Given the description of an element on the screen output the (x, y) to click on. 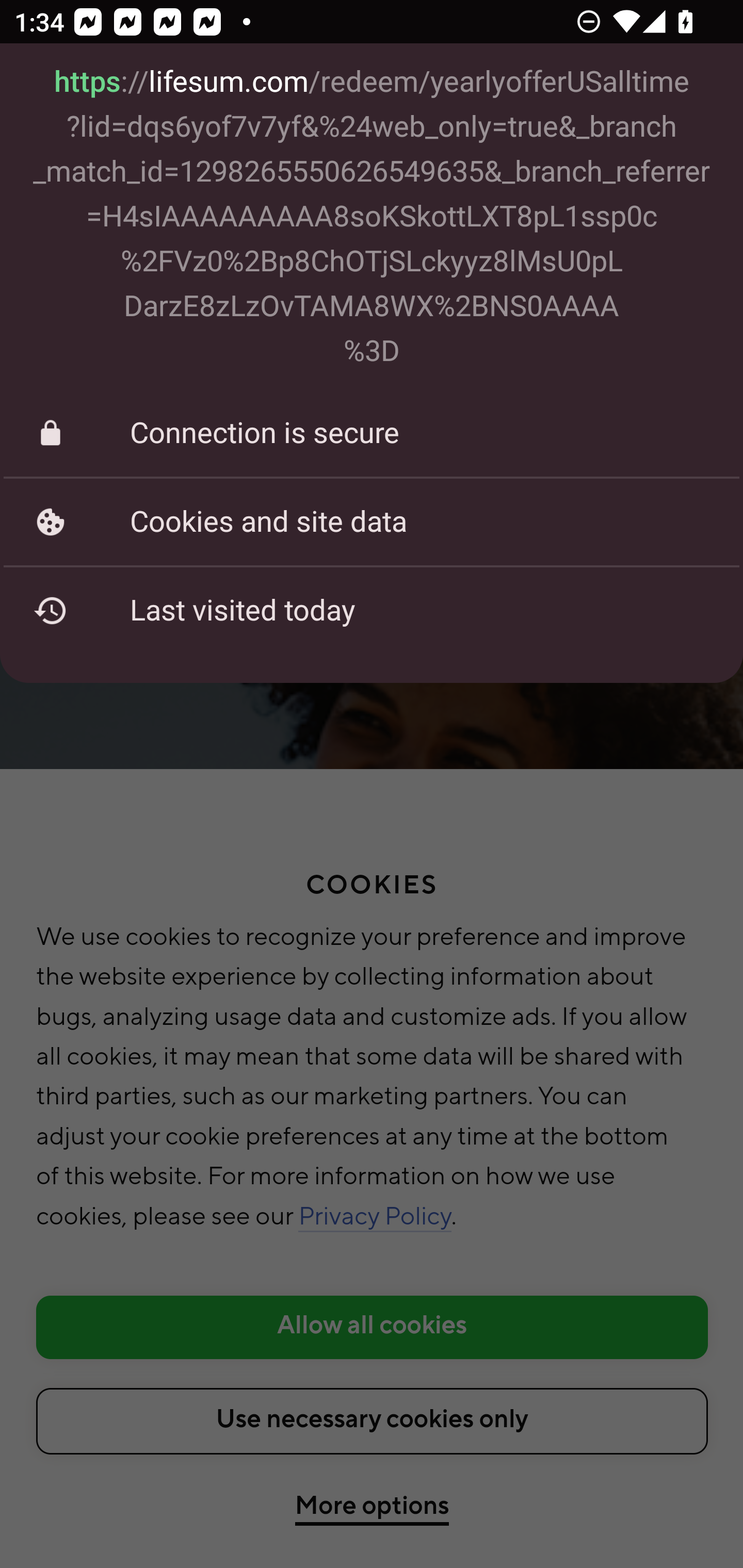
Connection is secure (371, 433)
Cookies and site data (371, 522)
Last visited today (371, 610)
